Given the description of an element on the screen output the (x, y) to click on. 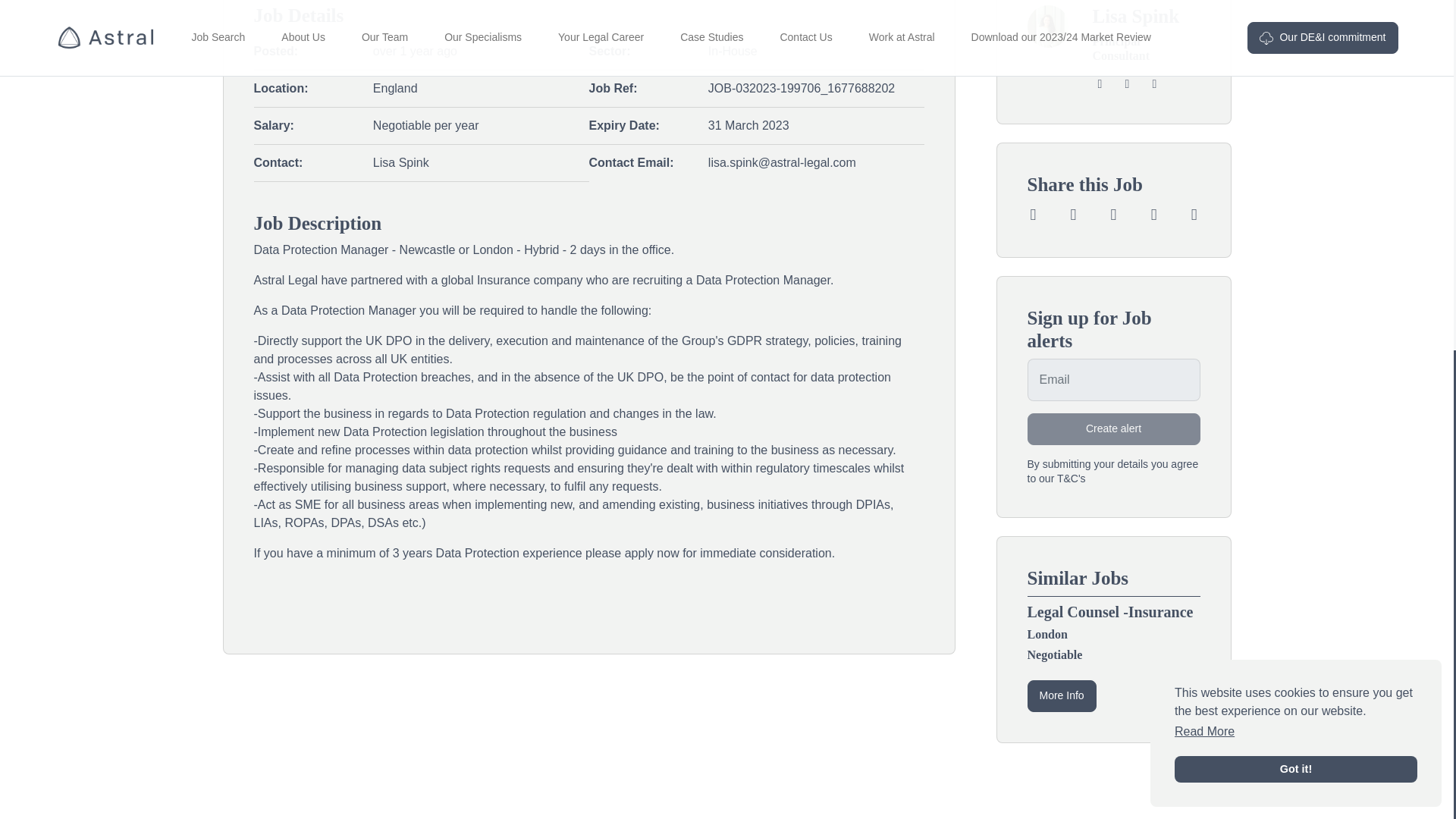
Got it! (1295, 156)
Lisa Spink (1135, 15)
More Info (1061, 695)
Create alert (1112, 429)
In-House (732, 51)
Read More (1204, 119)
